Given the description of an element on the screen output the (x, y) to click on. 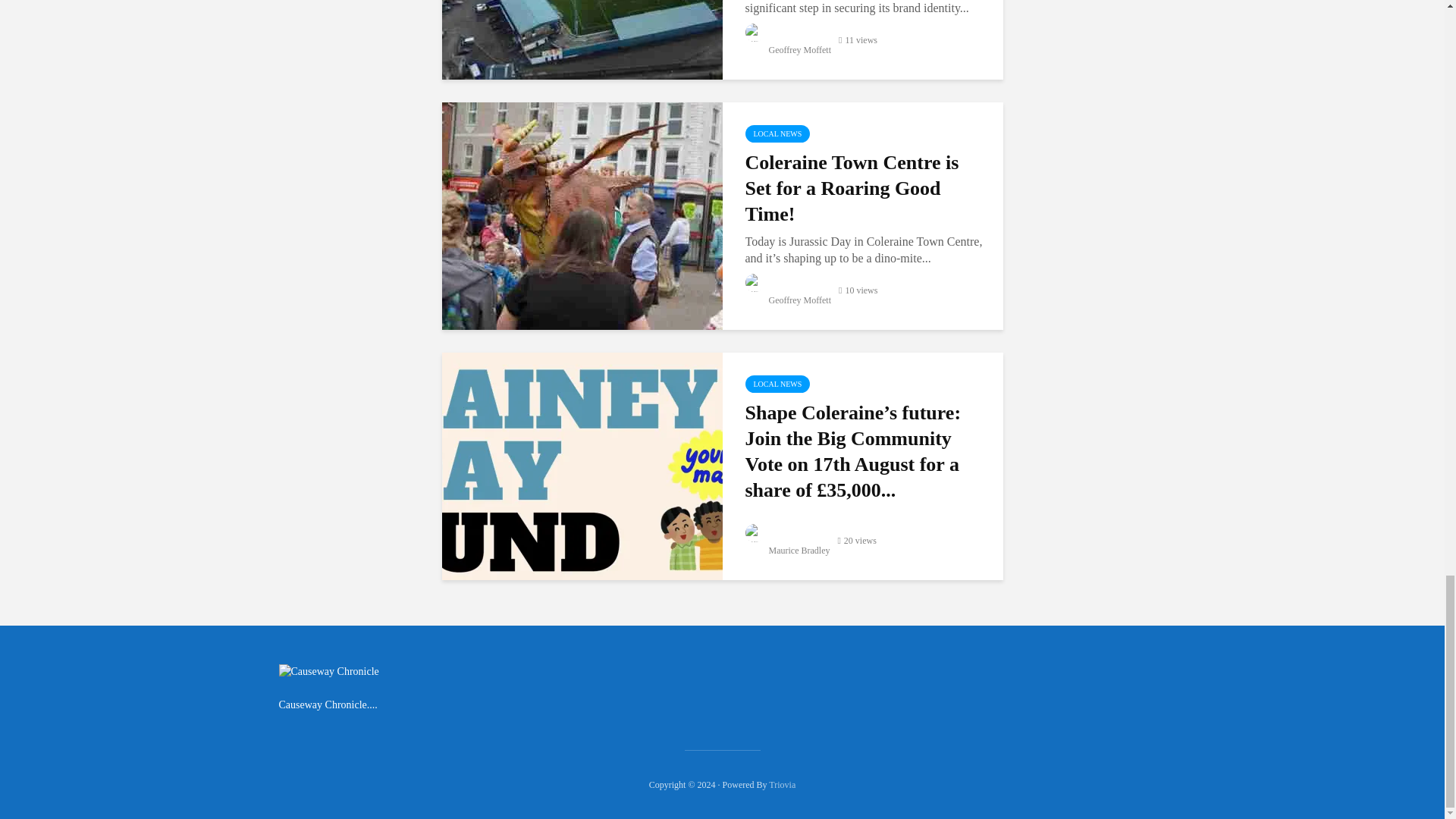
LOCAL NEWS (776, 384)
LOCAL NEWS (776, 133)
Coleraine Town Centre is Set for a Roaring Good Time! (864, 188)
Geoffrey Moffett (787, 299)
Coleraine Town Centre is Set for a Roaring Good Time! (581, 214)
Geoffrey Moffett (787, 50)
